Given the description of an element on the screen output the (x, y) to click on. 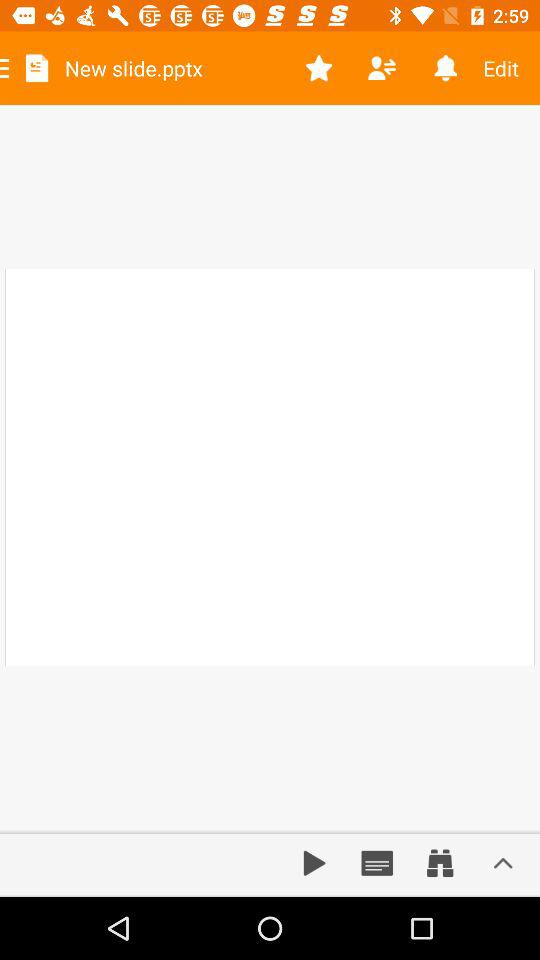
press item at the center (270, 467)
